Given the description of an element on the screen output the (x, y) to click on. 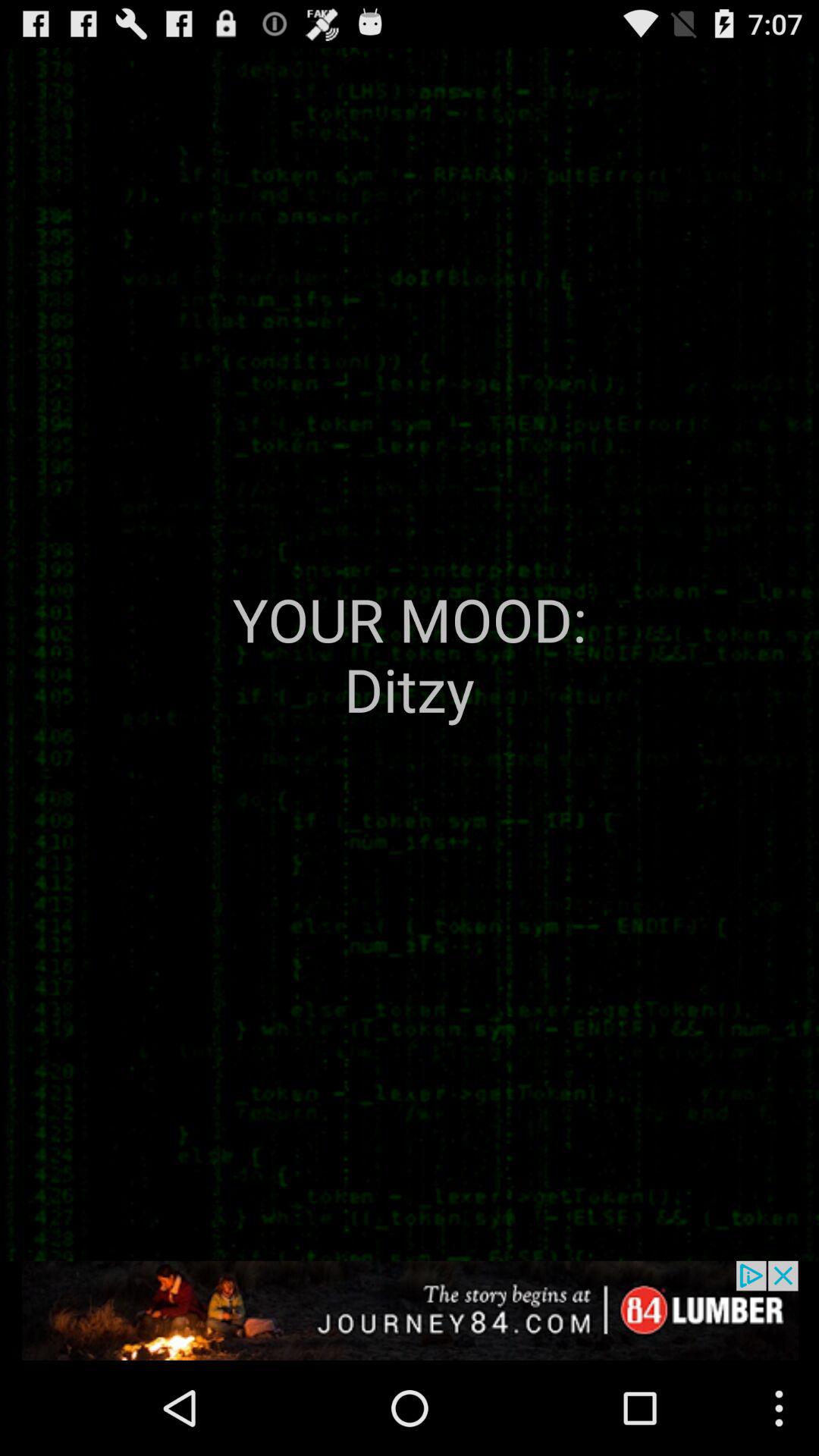
virtual mood ring (409, 1310)
